Given the description of an element on the screen output the (x, y) to click on. 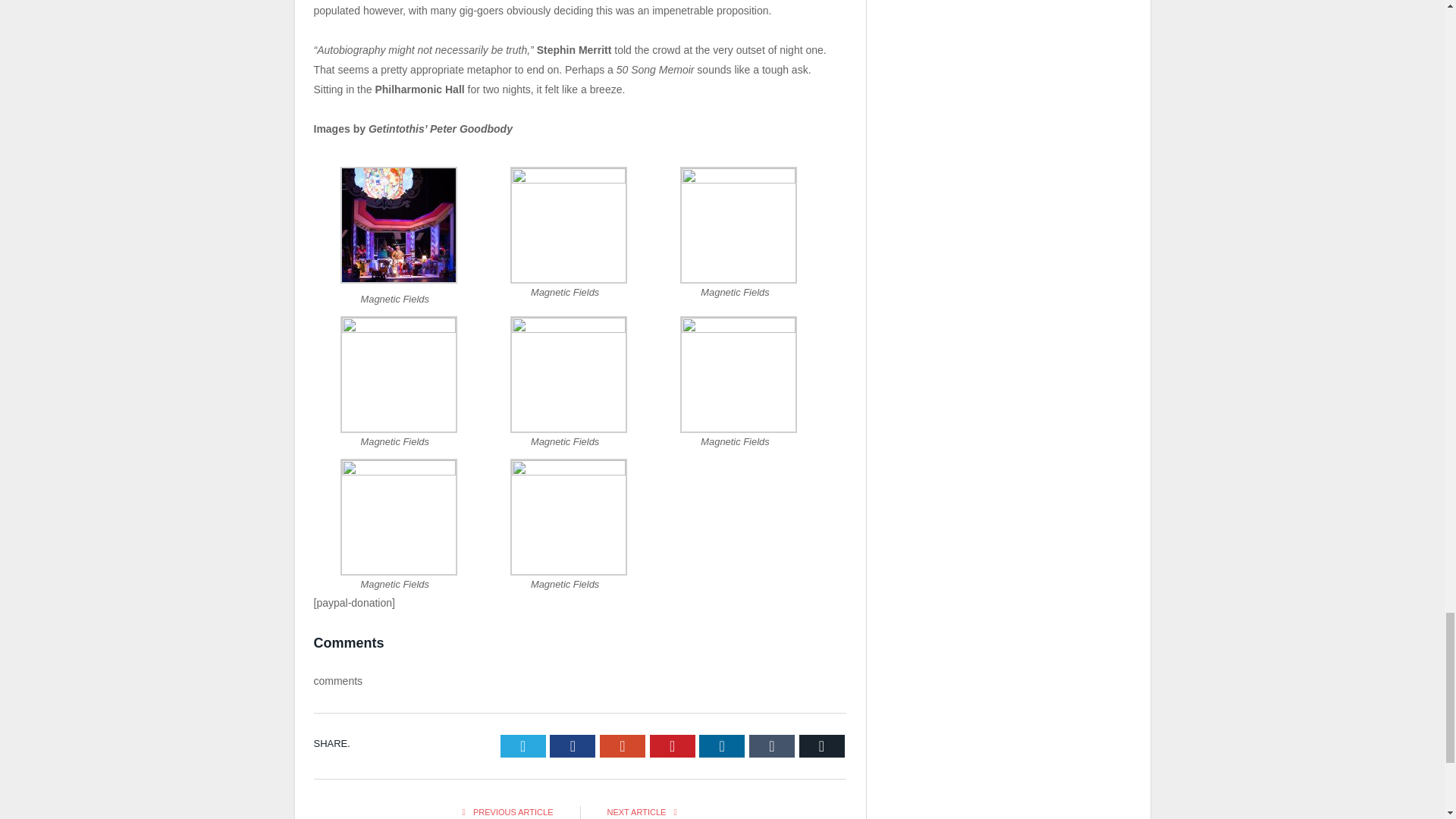
Share via Email (821, 745)
Share on Facebook (572, 745)
Magnetic Fields (569, 328)
Magnetic Fields (398, 328)
Magnetic Fields (737, 328)
Share on Tumblr (771, 745)
Share on LinkedIn (721, 745)
Magnetic Fields (569, 179)
Magnetic Fields (398, 279)
Magnetic Fields (737, 179)
Magnetic Fields (569, 471)
Tweet It (523, 745)
Share on Pinterest (672, 745)
Magnetic Fields (398, 471)
